Given the description of an element on the screen output the (x, y) to click on. 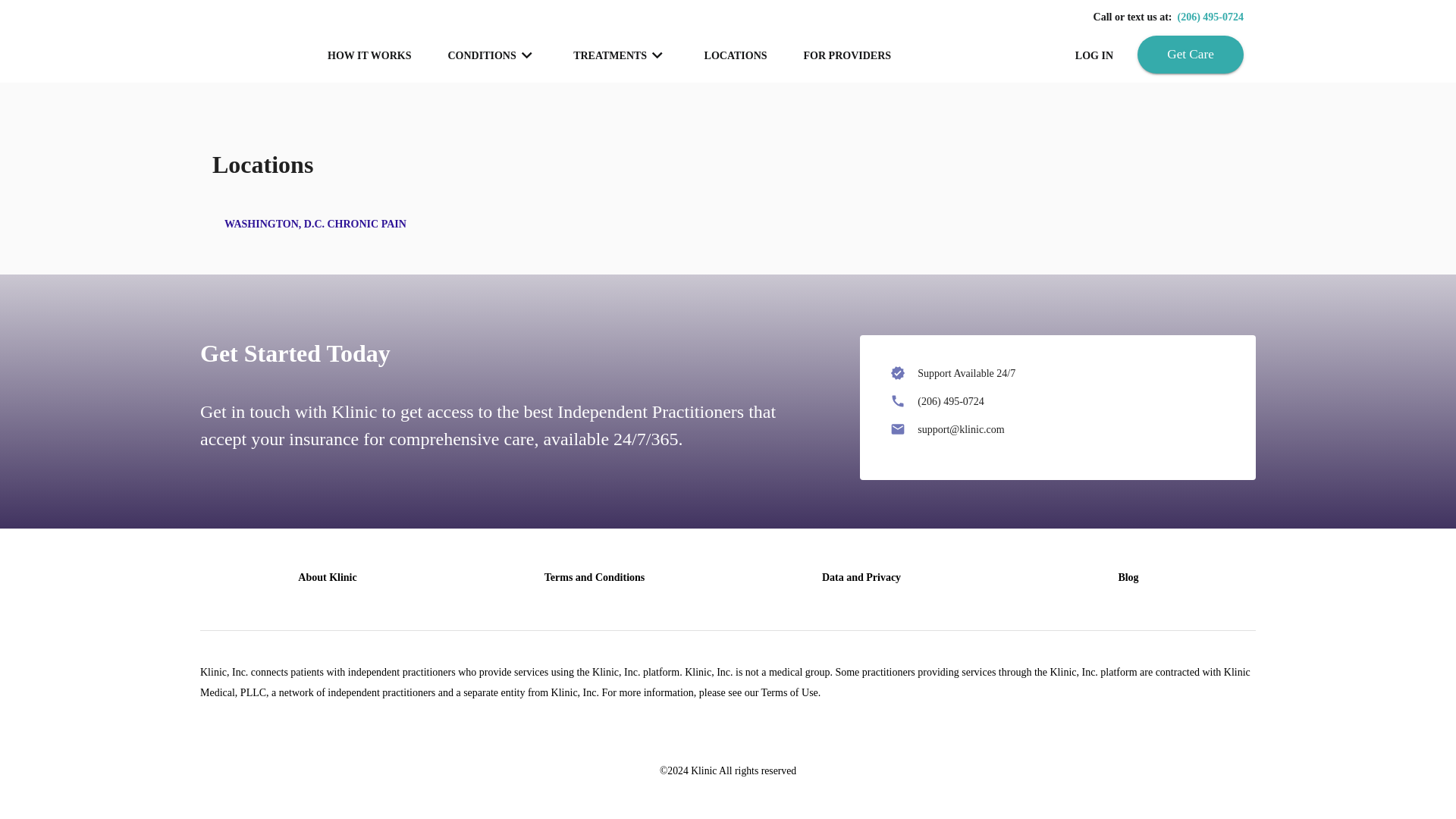
Terms and Conditions (594, 577)
Blog (1128, 577)
About Klinic (327, 577)
Data and Privacy (861, 577)
WASHINGTON, D.C. CHRONIC PAIN (315, 223)
